Given the description of an element on the screen output the (x, y) to click on. 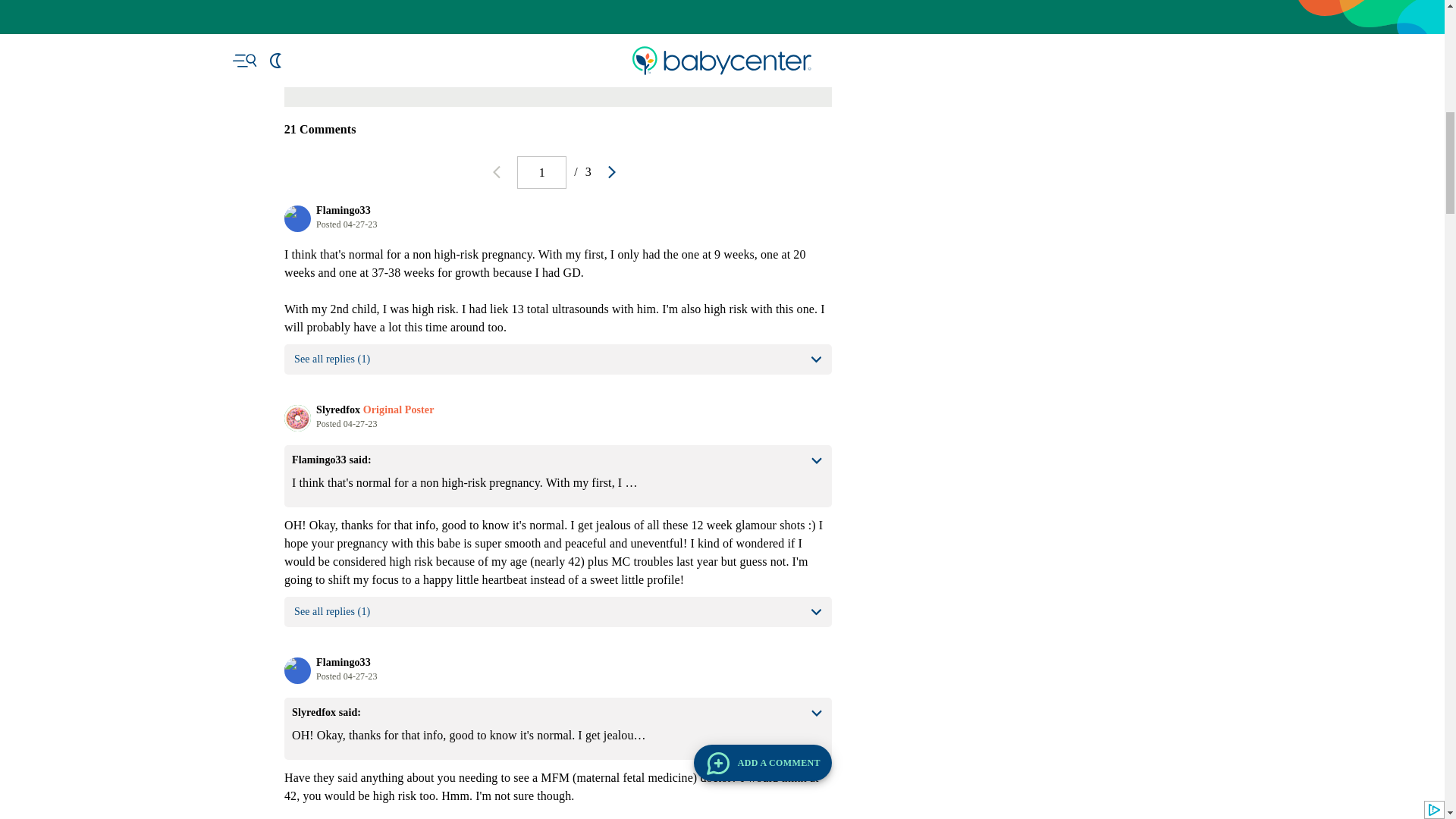
Go to page number (541, 172)
1 (541, 172)
